Given the description of an element on the screen output the (x, y) to click on. 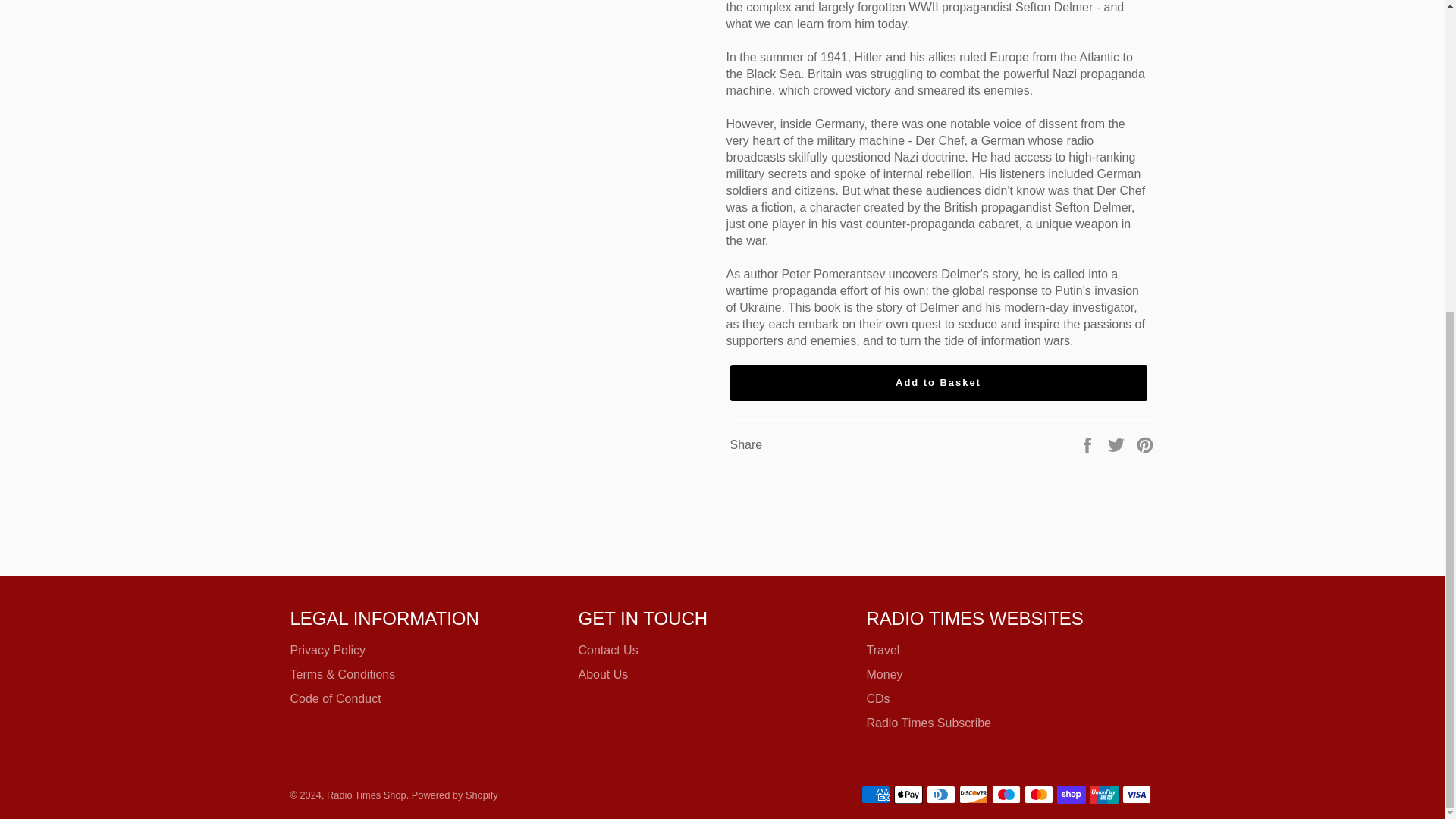
Tweet on Twitter (1117, 443)
Share on Facebook (1088, 443)
Pin on Pinterest (1144, 443)
